Given the description of an element on the screen output the (x, y) to click on. 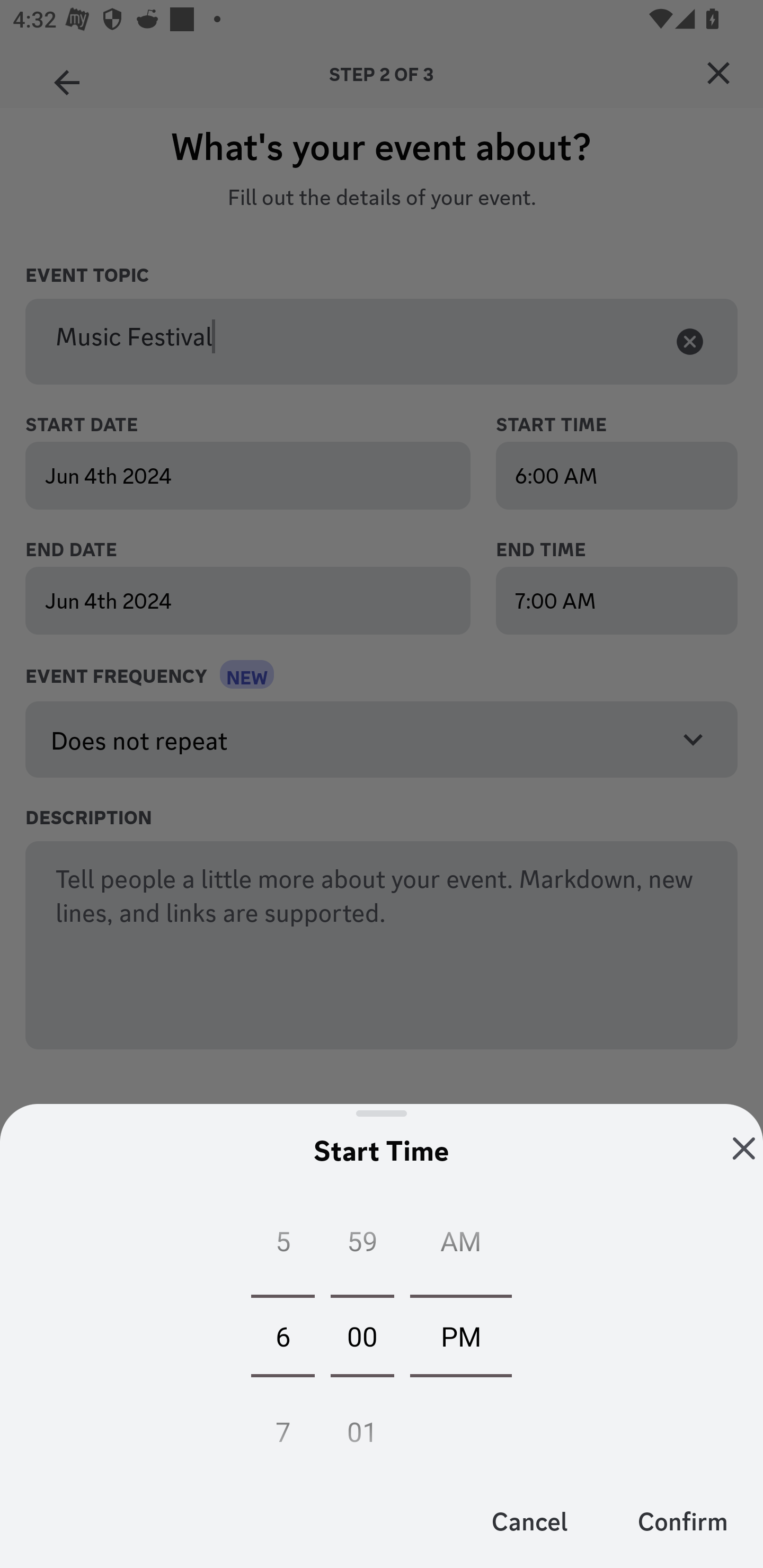
Close (743, 1148)
 5  (282, 1245)
59 (362, 1245)
 AM  (460, 1245)
 6  (282, 1335)
00 (362, 1335)
 PM  (460, 1335)
 7  (282, 1425)
01 (362, 1425)
Cancel (529, 1520)
Confirm (682, 1520)
